Given the description of an element on the screen output the (x, y) to click on. 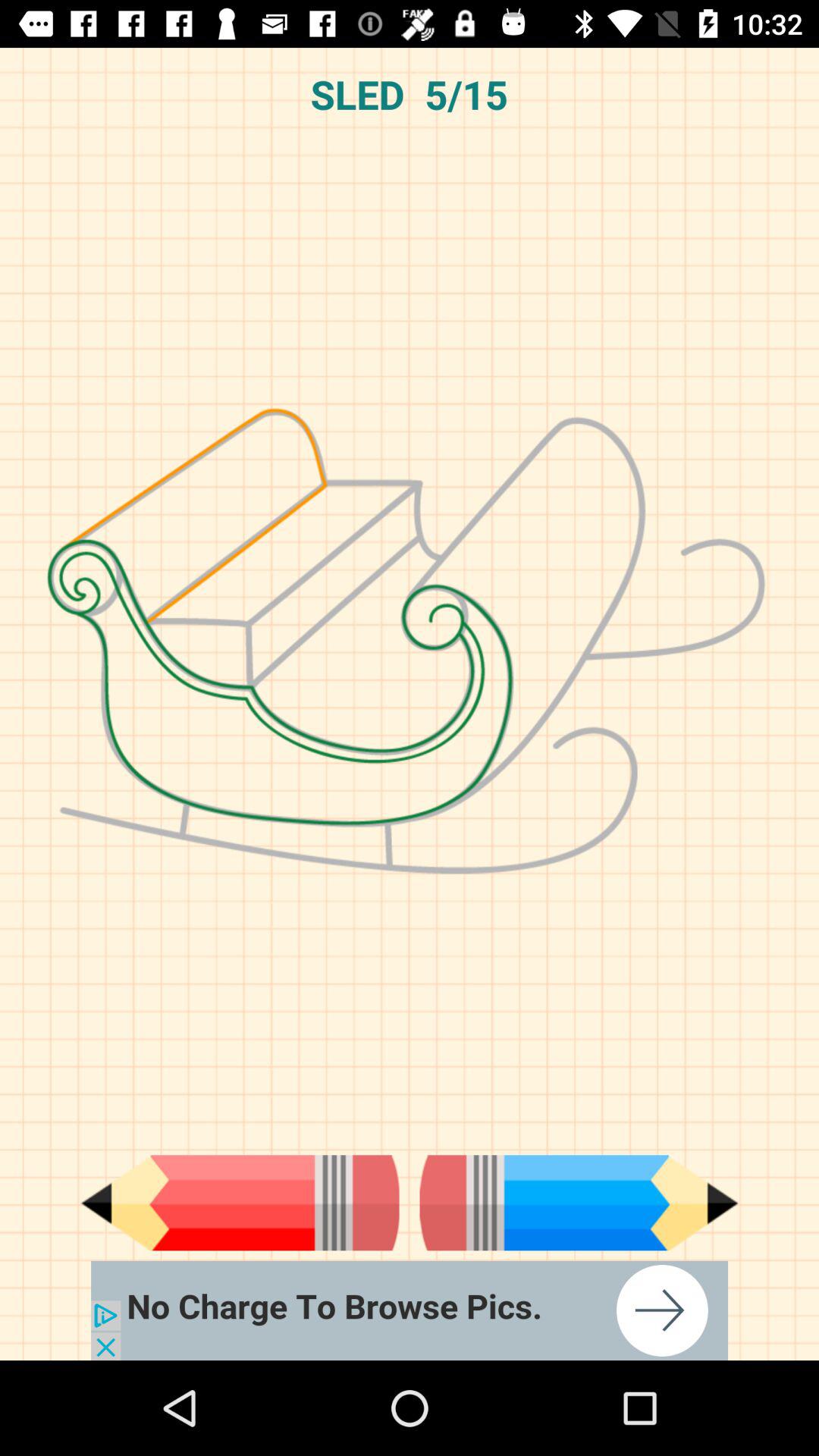
go to (409, 1310)
